Given the description of an element on the screen output the (x, y) to click on. 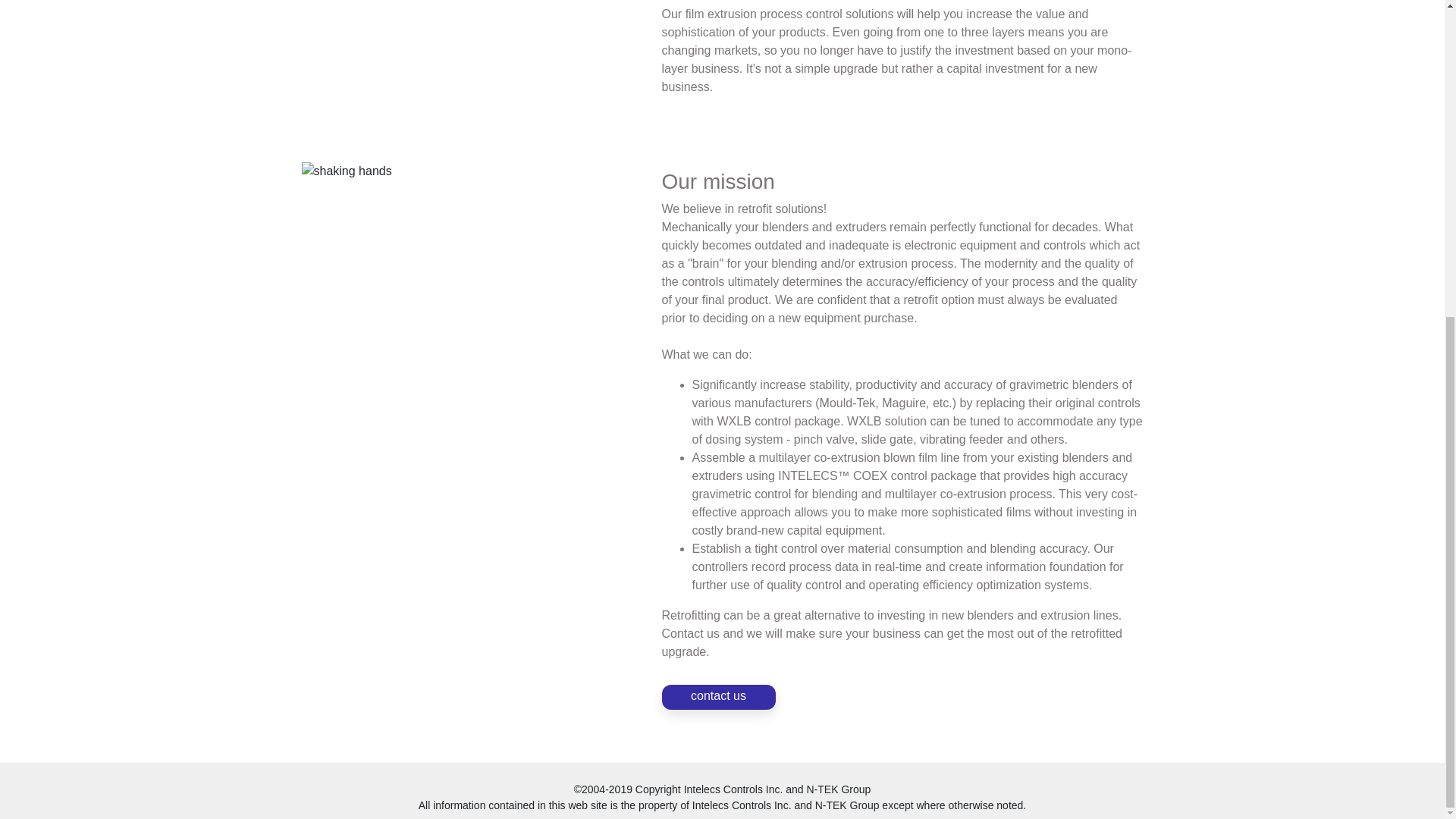
contact us (717, 697)
